Given the description of an element on the screen output the (x, y) to click on. 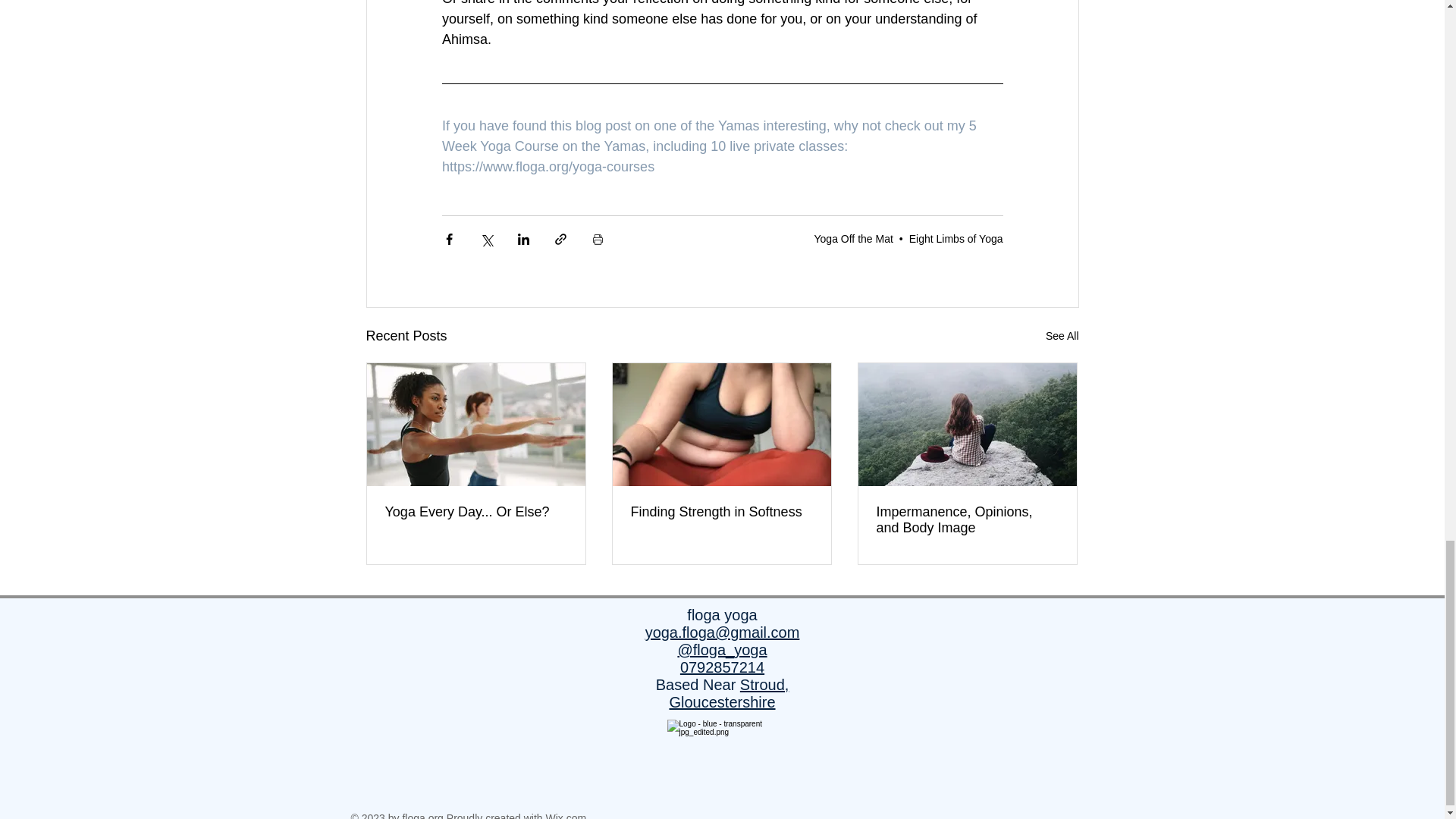
Impermanence, Opinions, and Body Image (967, 520)
Eight Limbs of Yoga (955, 237)
0792857214 (721, 667)
Finding Strength in Softness (721, 512)
See All (1061, 336)
Yoga Off the Mat (853, 237)
Stroud, Gloucestershire (728, 693)
Yoga Every Day... Or Else? (476, 512)
